Given the description of an element on the screen output the (x, y) to click on. 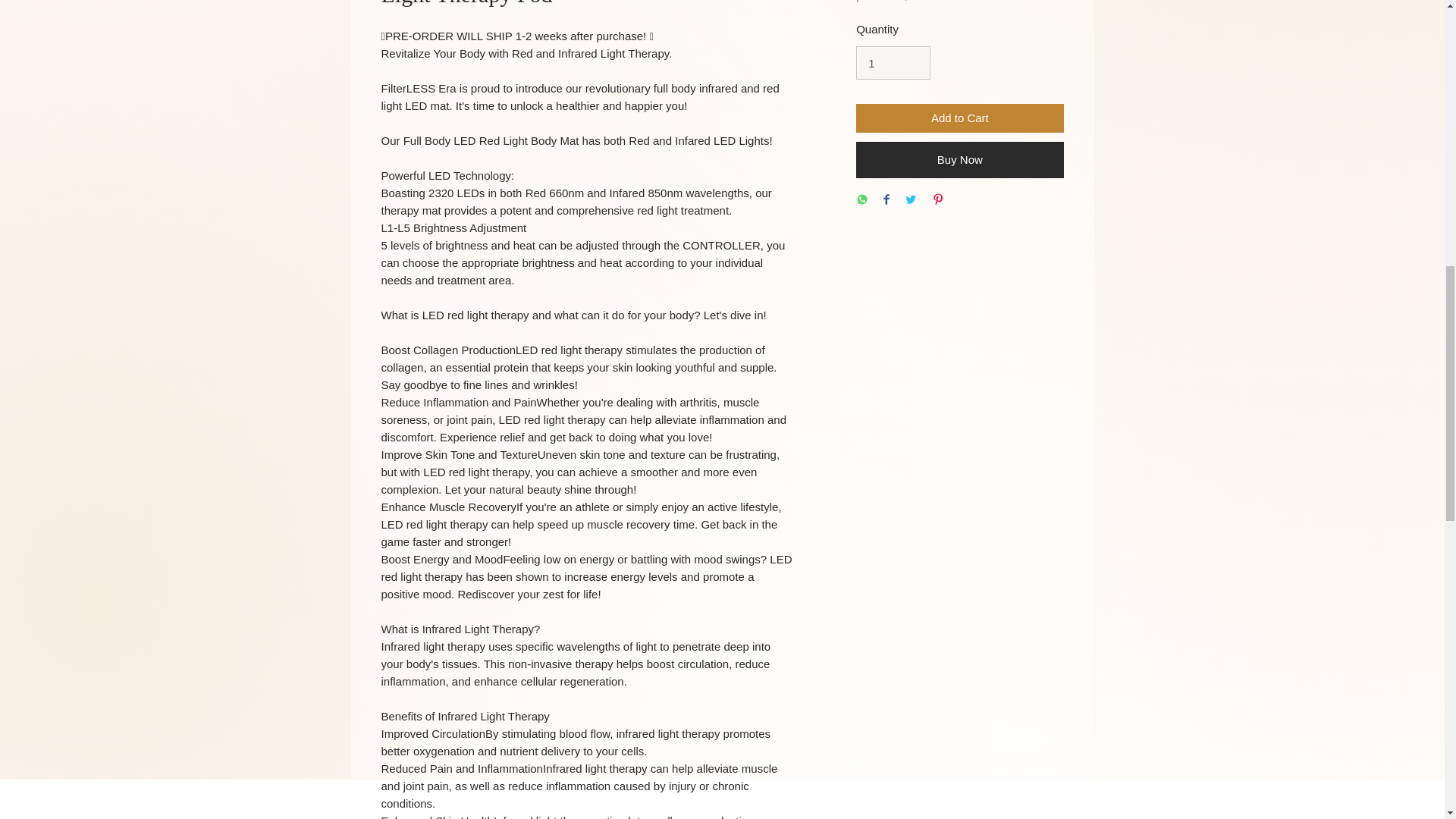
Add to Cart (959, 118)
1 (893, 62)
Buy Now (959, 159)
